Given the description of an element on the screen output the (x, y) to click on. 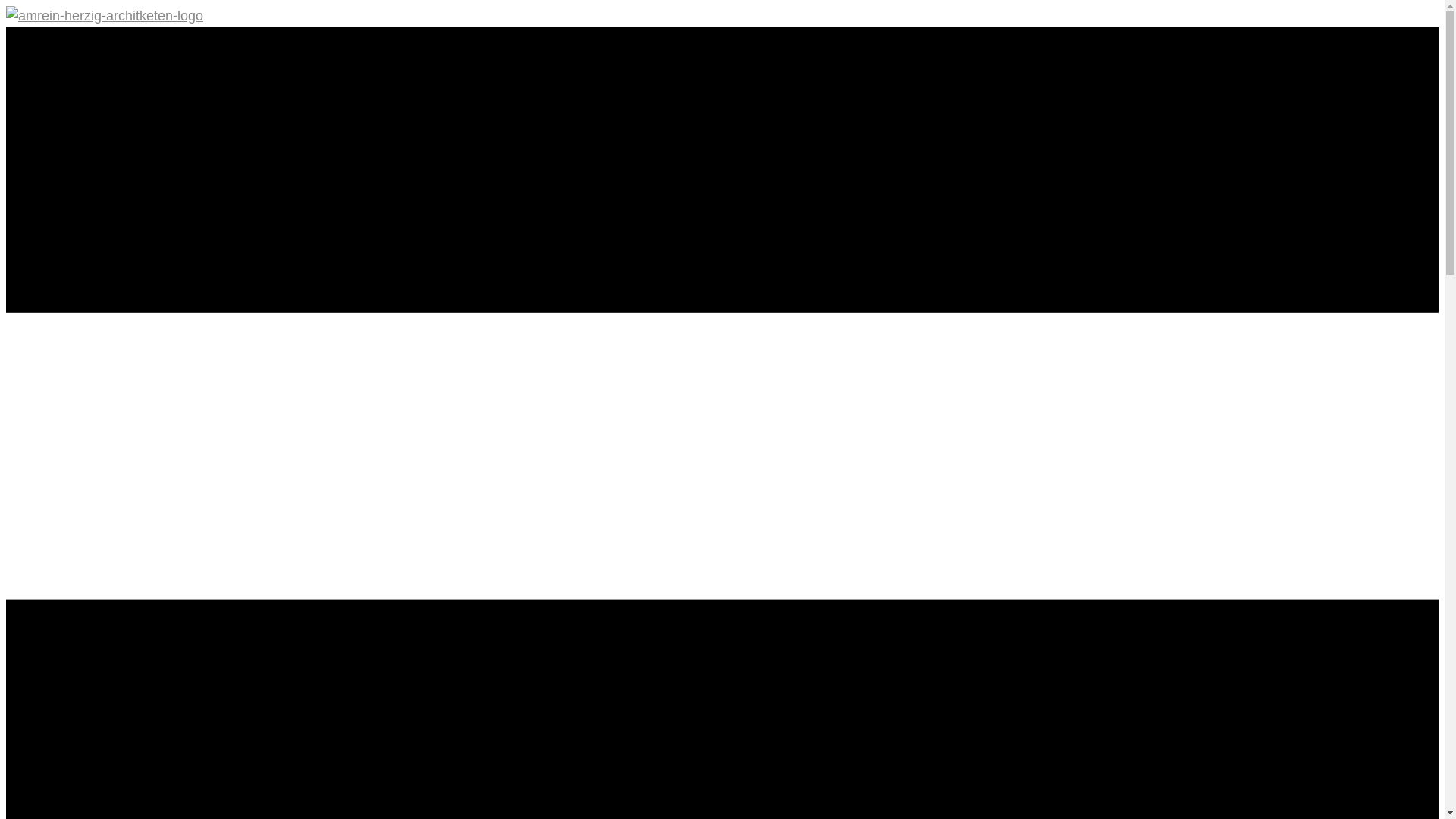
amrein-herzig-architketen-logo Element type: hover (104, 16)
